Given the description of an element on the screen output the (x, y) to click on. 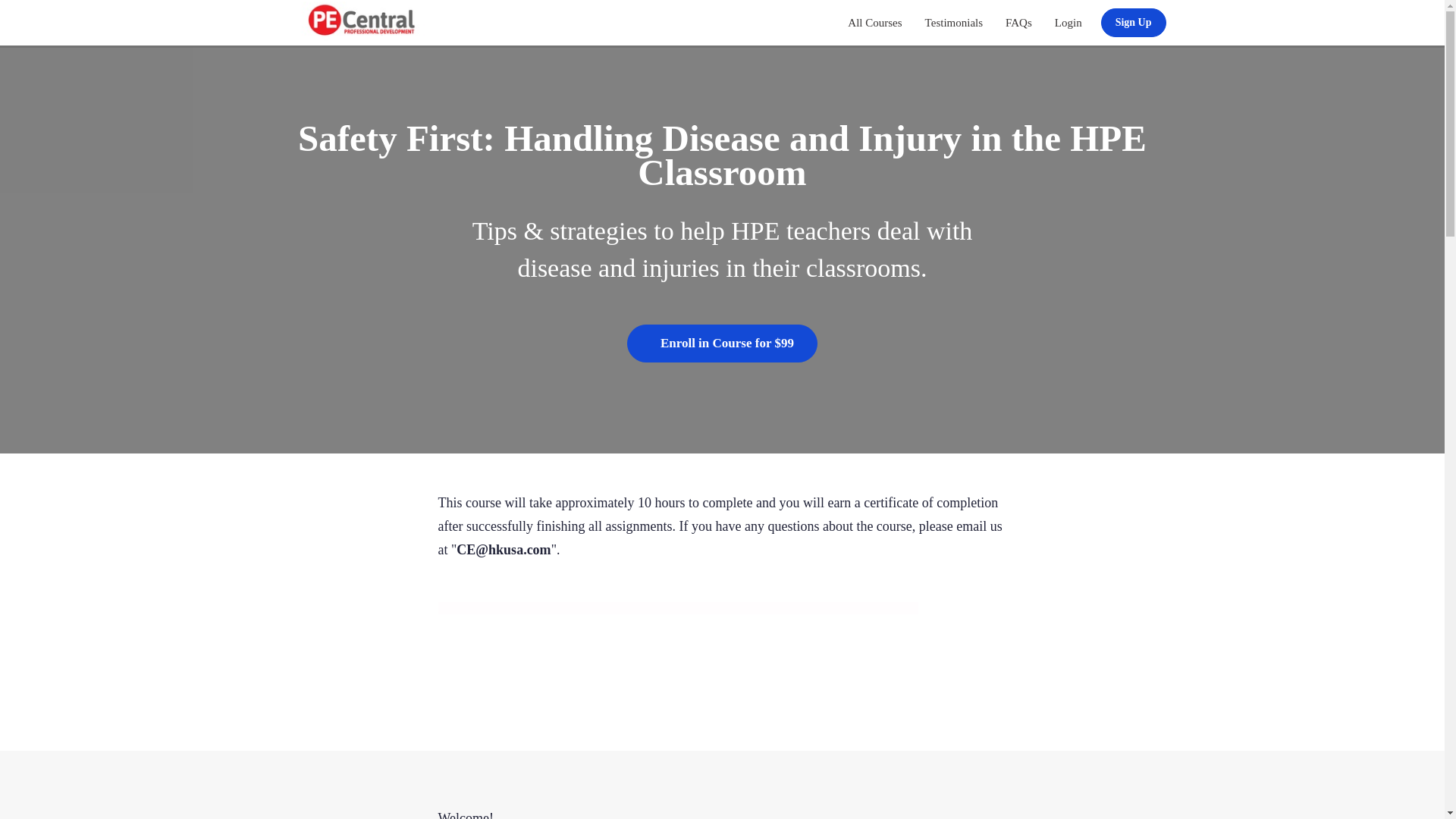
FAQs (1018, 22)
Sign Up (1133, 22)
Login (1068, 22)
All Courses (873, 22)
Testimonials (954, 22)
